Given the description of an element on the screen output the (x, y) to click on. 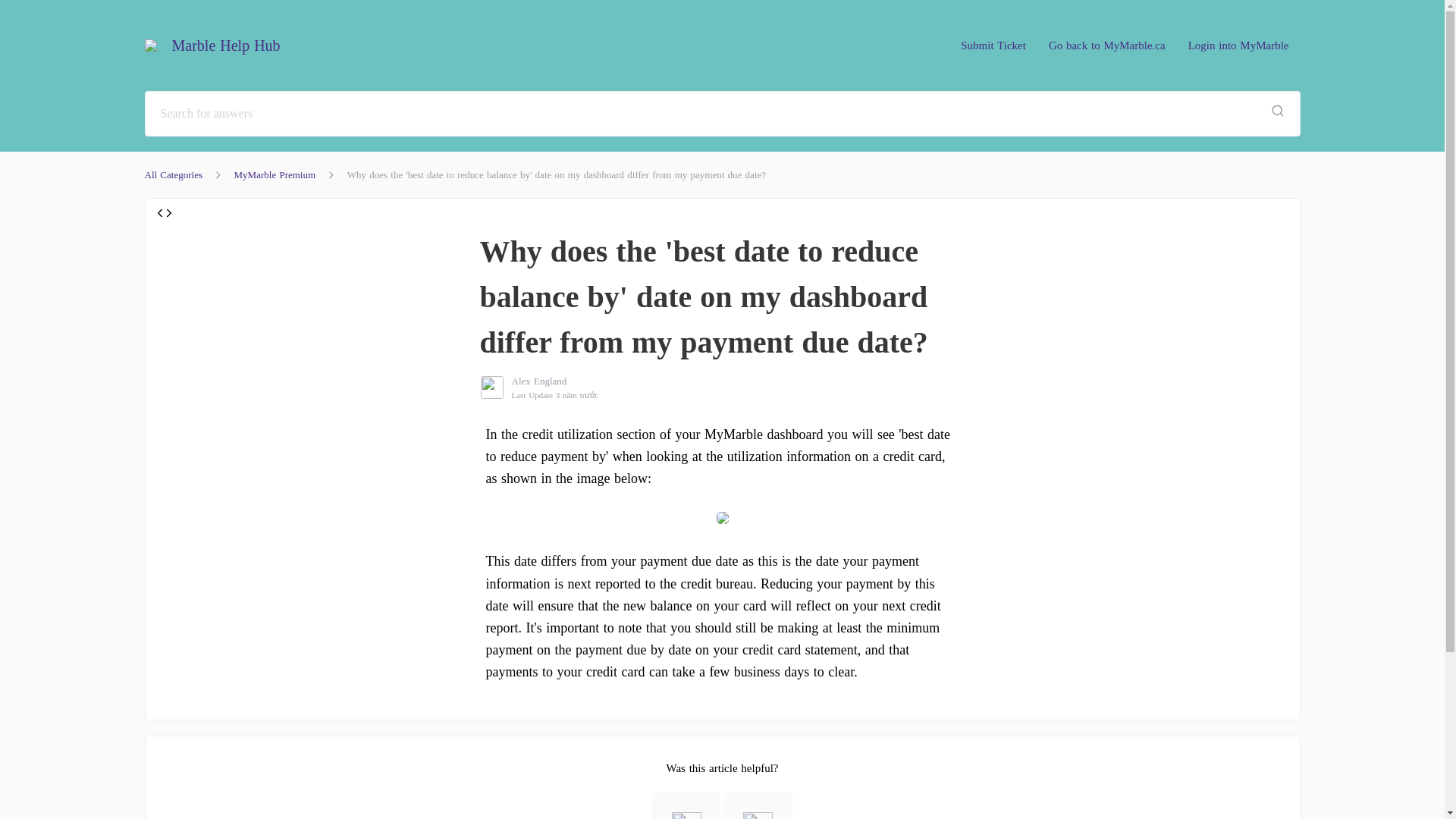
Go back to MyMarble.ca (1106, 45)
Submit Ticket (992, 45)
All Categories (173, 174)
Login into MyMarble (1238, 45)
Marble Help Hub (219, 45)
MyMarble Premium (274, 174)
